Given the description of an element on the screen output the (x, y) to click on. 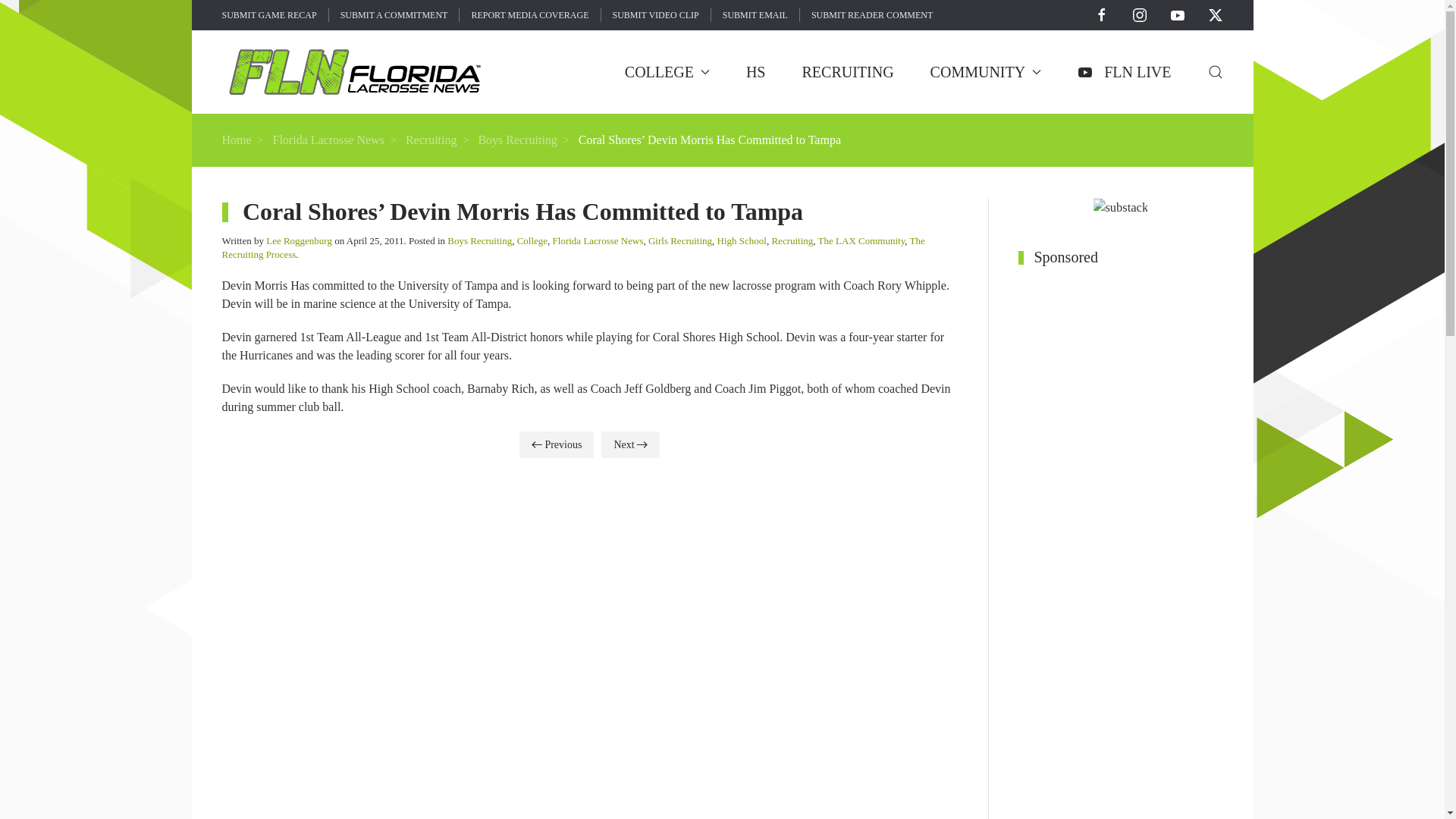
COLLEGE (667, 71)
FLN Livestream (1123, 71)
REPORT MEDIA COVERAGE (529, 15)
HS (755, 71)
RECRUITING (847, 71)
SUBMIT GAME RECAP (268, 15)
SUBMIT VIDEO CLIP (655, 15)
SUBMIT READER COMMENT (871, 15)
COMMUNITY (986, 71)
SUBMIT EMAIL (754, 15)
SUBMIT A COMMITMENT (394, 15)
FLN LIVE (1123, 71)
